Given the description of an element on the screen output the (x, y) to click on. 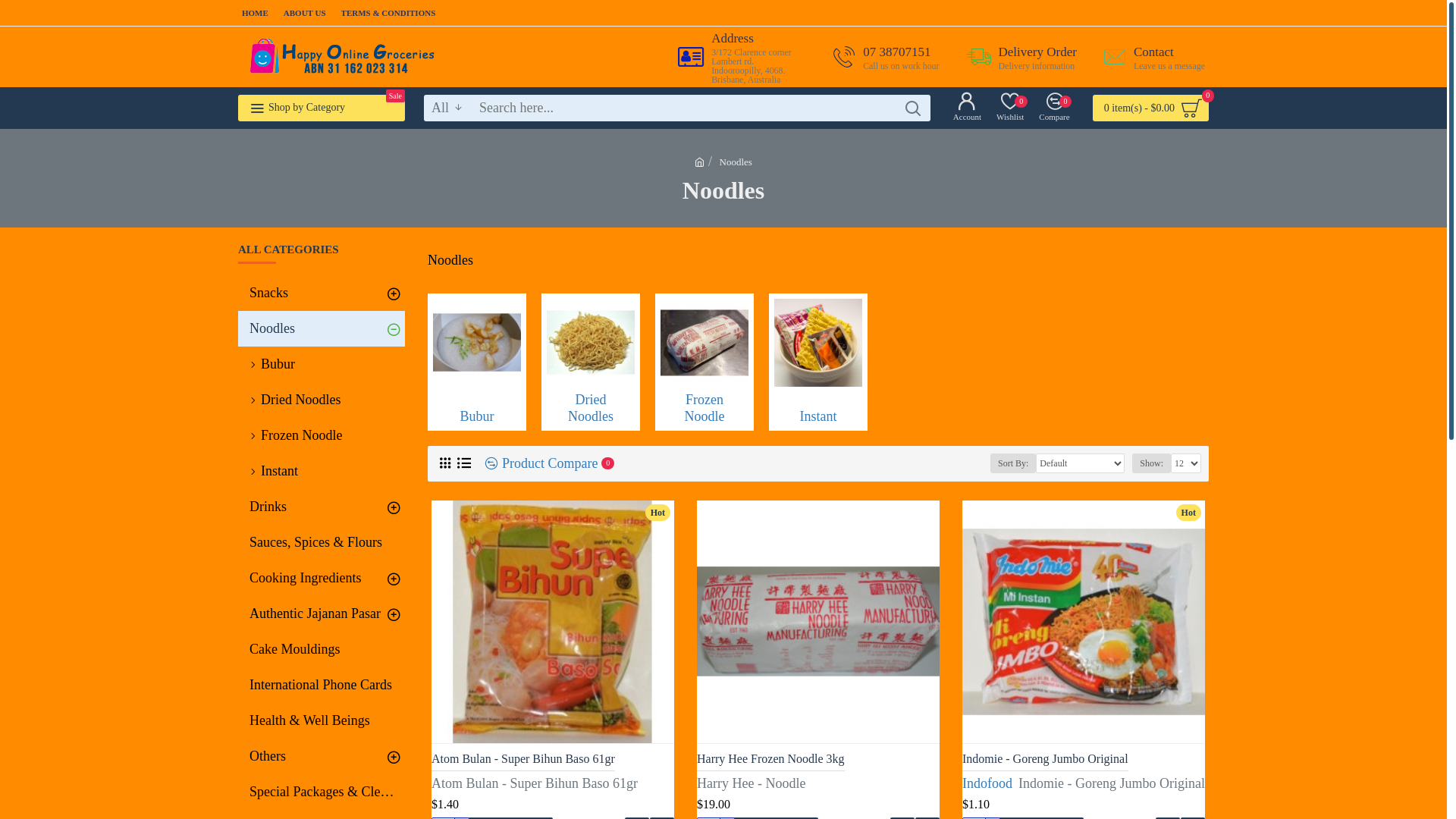
Indofood Element type: text (987, 783)
Wishlist
0 Element type: text (1009, 107)
Happy Shop Indonesian Groceries Element type: hover (341, 56)
Dried Noodles Element type: text (321, 399)
Account Element type: text (966, 107)
Instant Element type: text (321, 471)
Special Packages & Clearance Element type: text (321, 791)
Indomie - Goreng Jumbo Original Element type: hover (1083, 621)
07 38707151
Call us on work hour Element type: text (879, 56)
ABOUT US Element type: text (304, 13)
TERMS & CONDITIONS Element type: text (388, 13)
Snacks Element type: text (321, 292)
Health & Well Beings Element type: text (321, 720)
Bubur Element type: text (476, 361)
Instant Element type: text (817, 361)
Drinks Element type: text (321, 506)
Others Element type: text (321, 756)
0 item(s) - $0.00
0 Element type: text (1150, 107)
Frozen Noodle Element type: text (321, 435)
Authentic Jajanan Pasar Element type: text (321, 613)
Frozen Noodle Element type: text (704, 361)
Cooking Ingredients Element type: text (321, 578)
Bubur Element type: text (321, 364)
Compare
0 Element type: text (1053, 107)
Contact
Leave us a message Element type: text (1148, 56)
Cake Mouldings Element type: text (321, 649)
Noodles Element type: text (735, 161)
Delivery Order
Delivery information Element type: text (1015, 56)
Shop by Category
Sale Element type: text (321, 107)
Dried Noodles Element type: text (590, 361)
Harry Hee Frozen Noodle 3kg Element type: hover (817, 621)
Atom Bulan - Super Bihun Baso 61gr Element type: hover (552, 621)
Indomie - Goreng Jumbo Original Element type: text (1045, 759)
Sauces, Spices & Flours Element type: text (321, 542)
Atom Bulan - Super Bihun Baso 61gr Element type: text (523, 759)
Product Compare
0 Element type: text (543, 463)
Harry Hee Frozen Noodle 3kg Element type: text (770, 759)
Noodles Element type: text (321, 328)
HOME Element type: text (255, 13)
International Phone Cards Element type: text (321, 684)
